Given the description of an element on the screen output the (x, y) to click on. 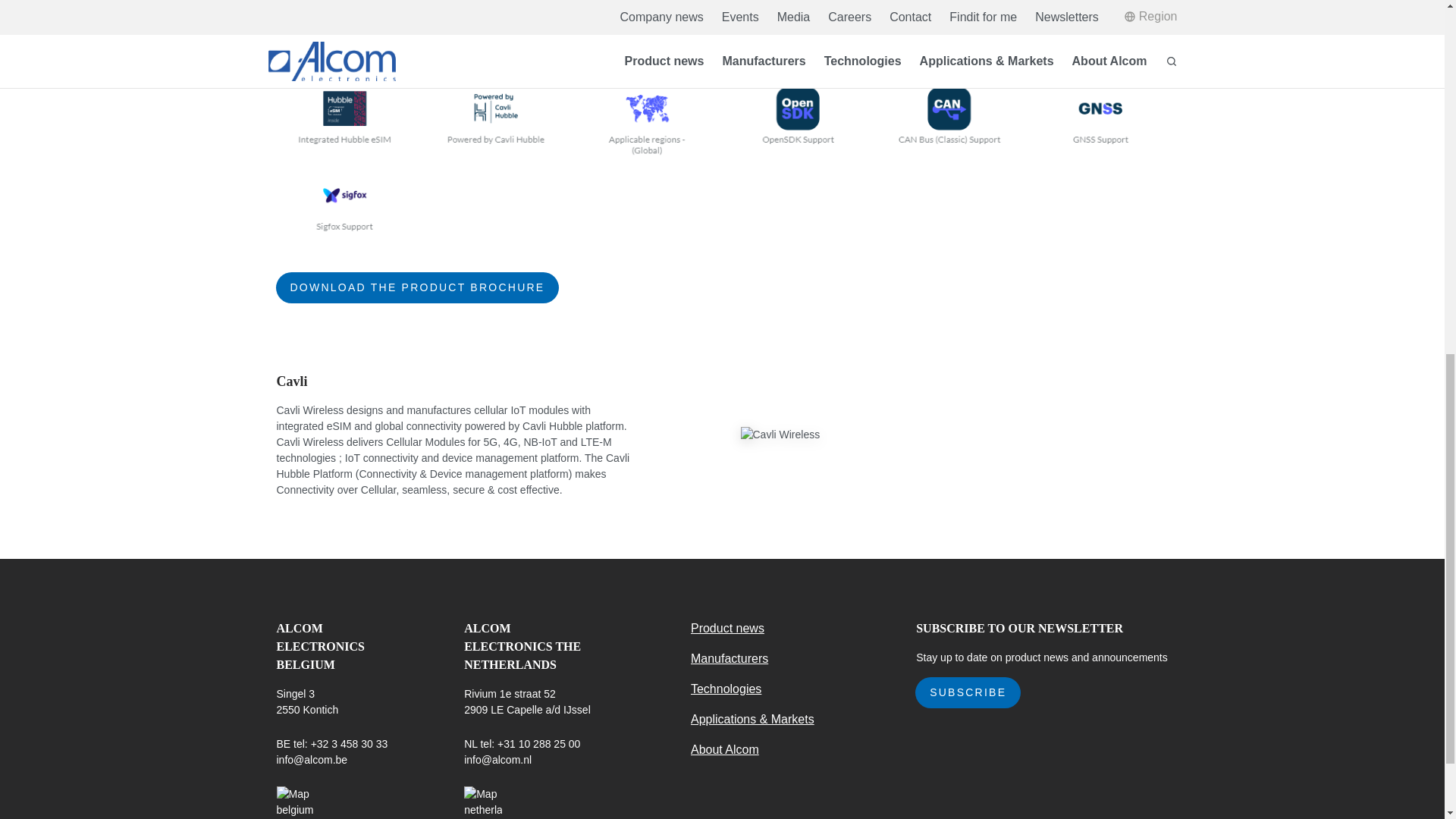
DOWNLOAD THE PRODUCT BROCHURE (416, 287)
Manufacturers (729, 658)
Product news (727, 627)
Technologies (725, 688)
